Given the description of an element on the screen output the (x, y) to click on. 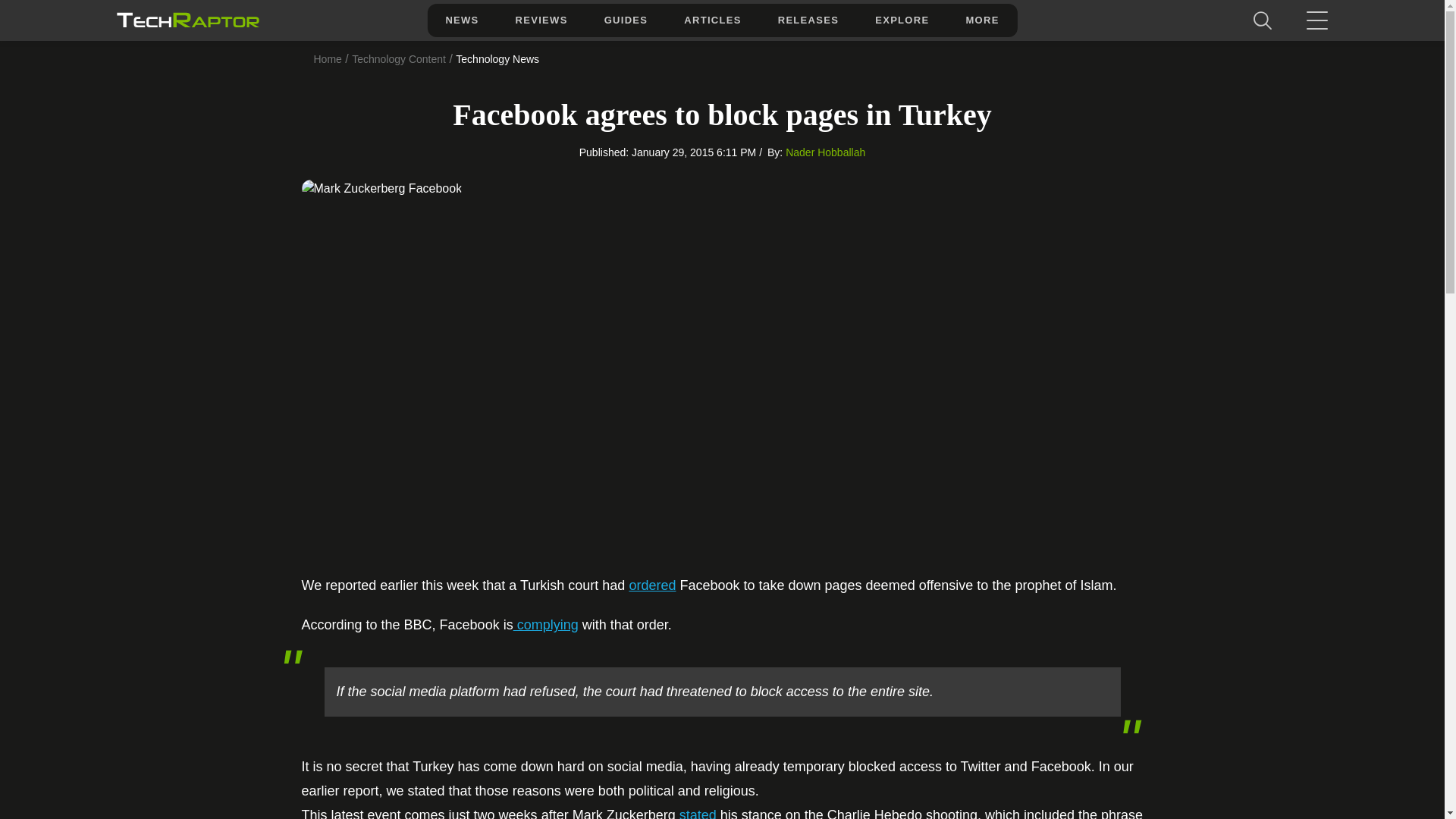
RELEASES (807, 20)
GUIDES (626, 20)
ARTICLES (711, 20)
TechRaptor Home (187, 20)
NEWS (461, 20)
REVIEWS (541, 20)
